Given the description of an element on the screen output the (x, y) to click on. 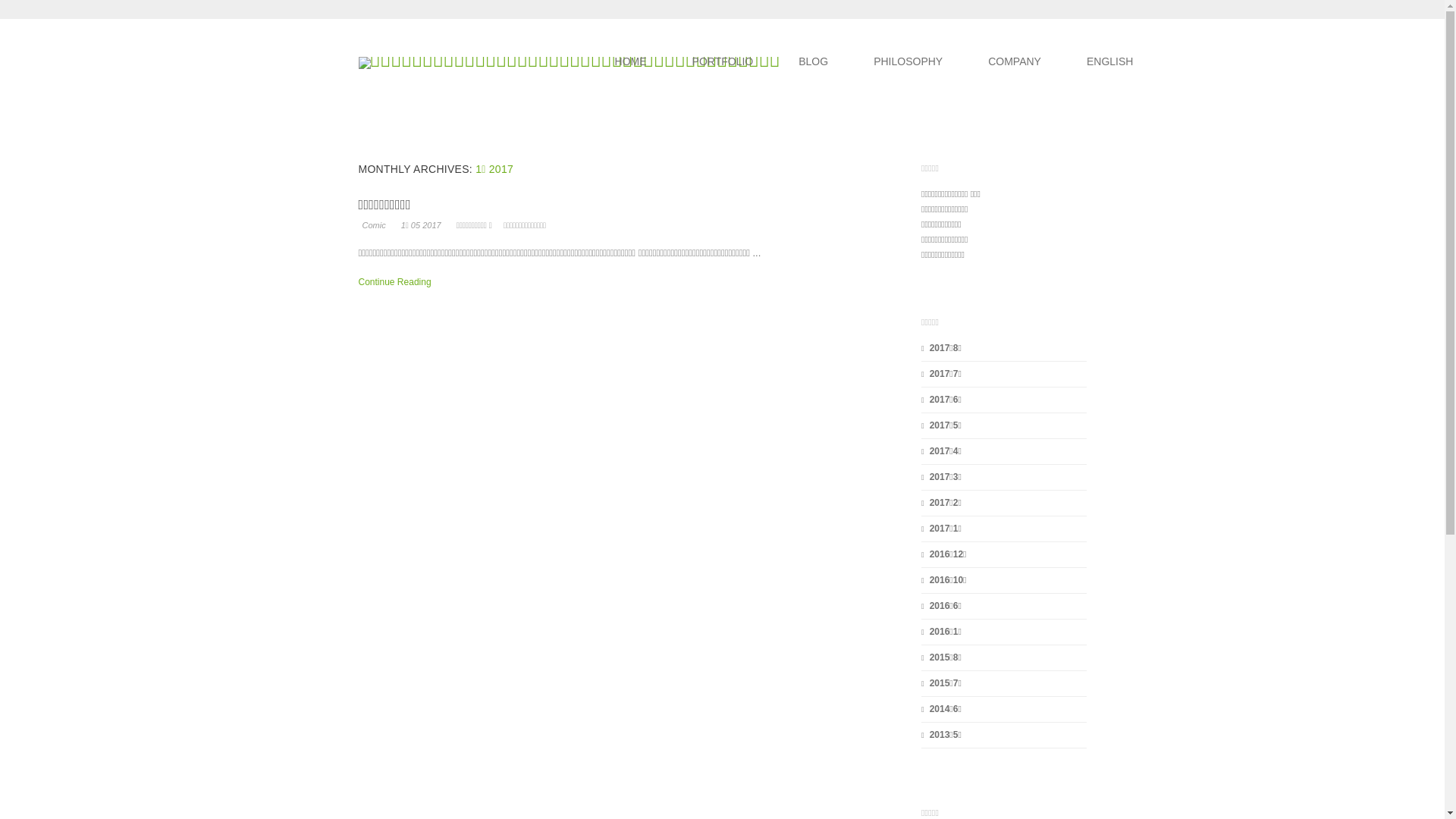
PORTFOLIO Element type: text (722, 61)
Comic Element type: text (373, 224)
ENGLISH Element type: text (1109, 61)
Continue Reading Element type: text (395, 281)
HOME Element type: text (630, 61)
BLOG Element type: text (812, 61)
PHILOSOPHY Element type: text (907, 61)
COMPANY Element type: text (1014, 61)
